Given the description of an element on the screen output the (x, y) to click on. 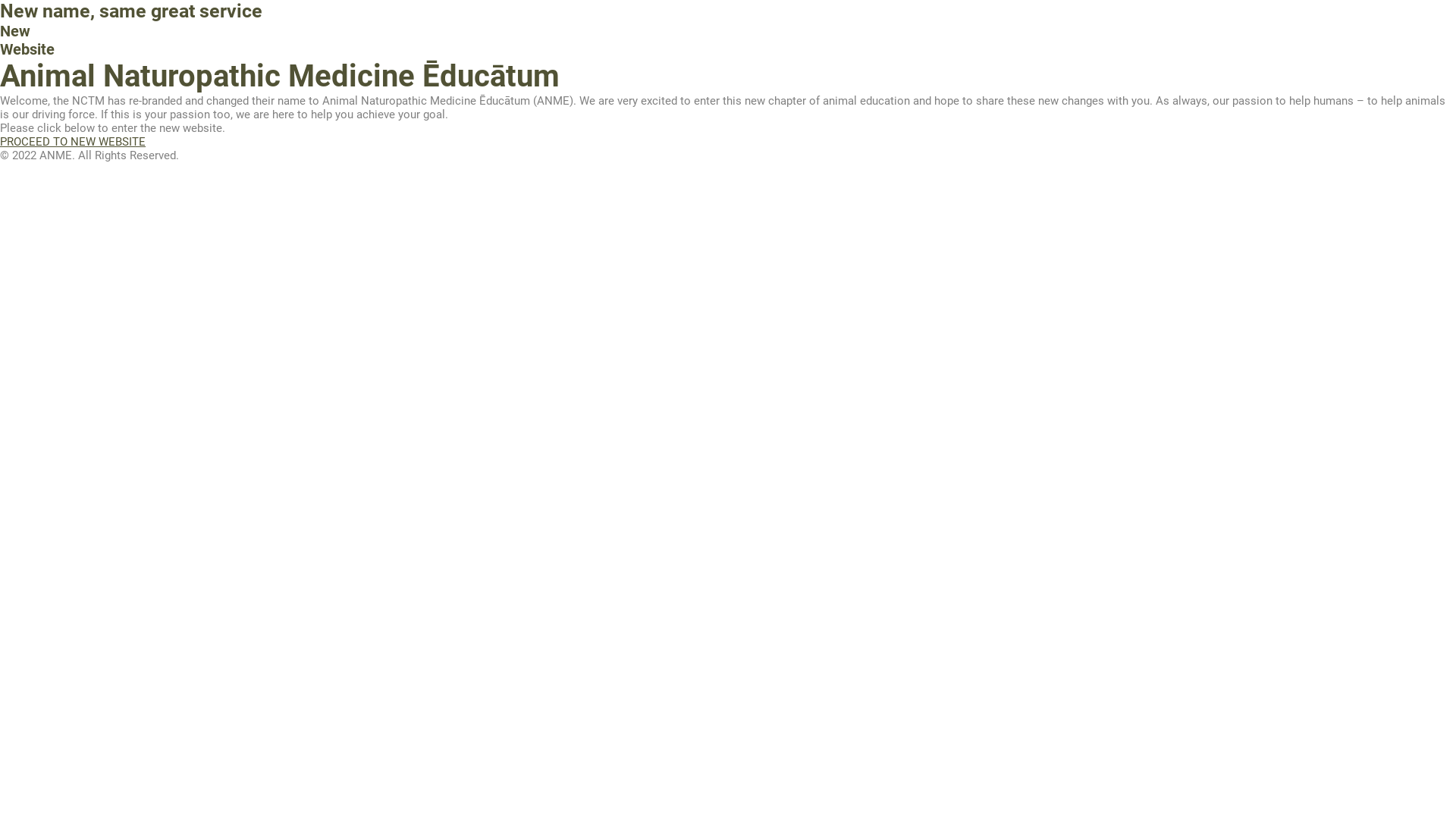
PROCEED TO NEW WEBSITE Element type: text (72, 141)
